Given the description of an element on the screen output the (x, y) to click on. 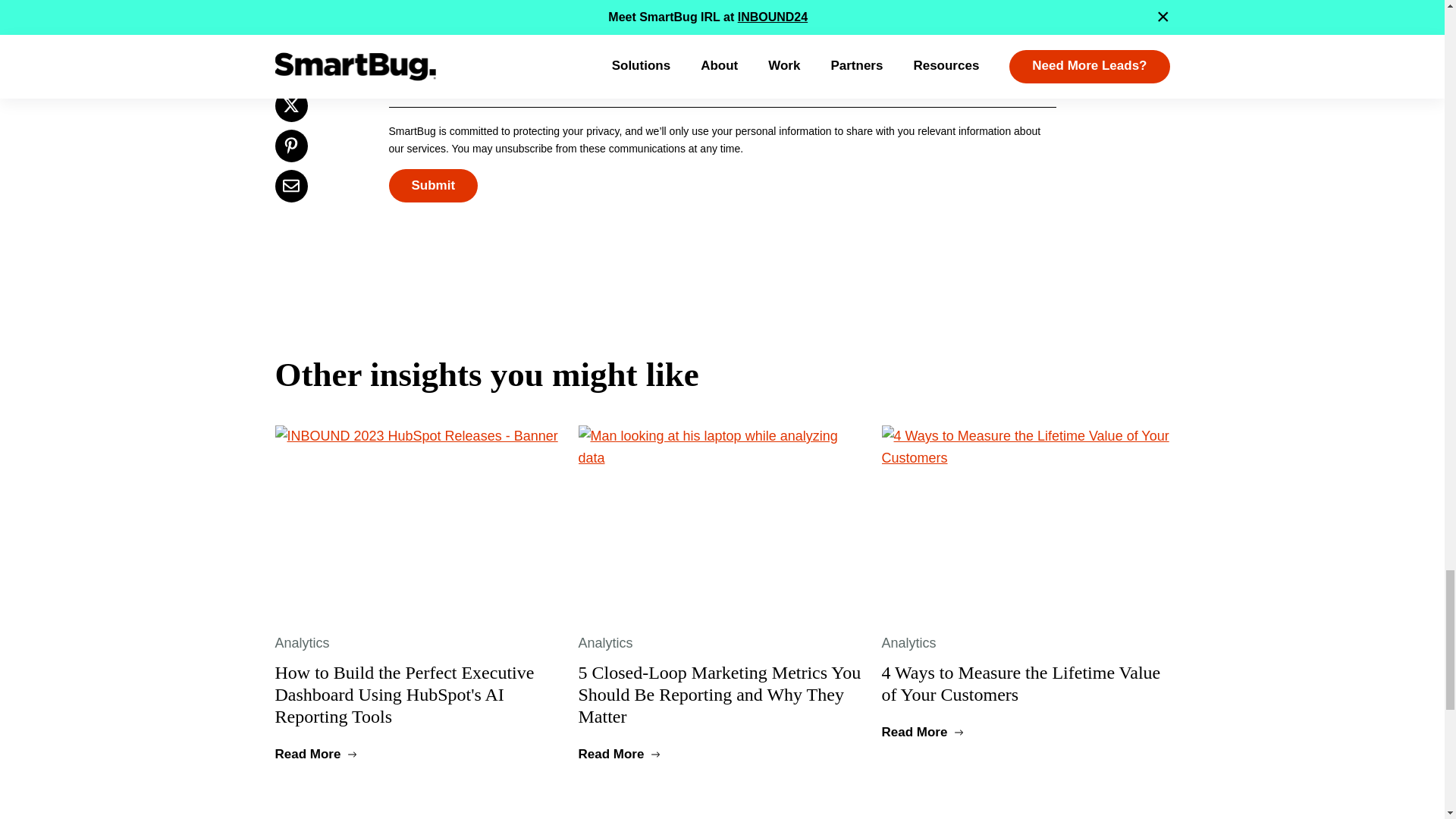
Submit (432, 185)
